Given the description of an element on the screen output the (x, y) to click on. 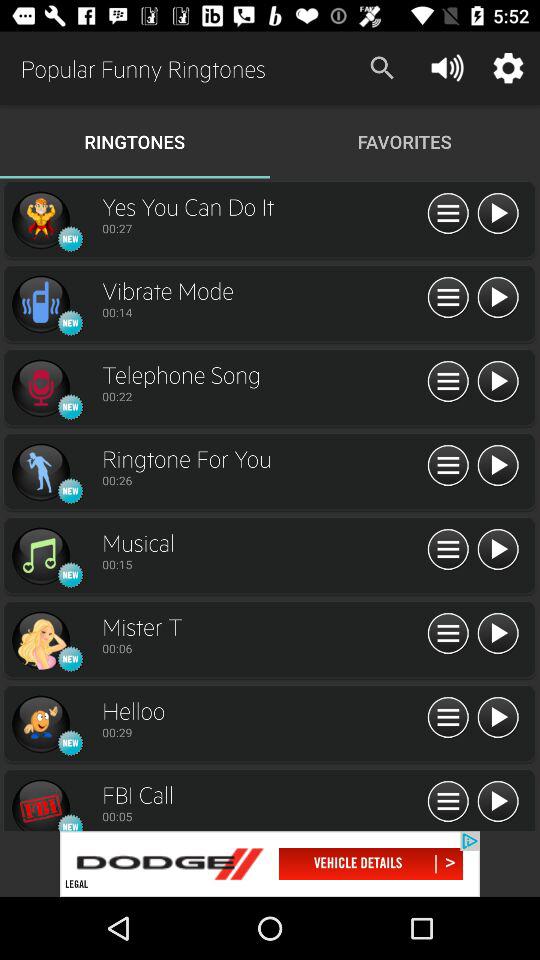
play option (497, 633)
